Given the description of an element on the screen output the (x, y) to click on. 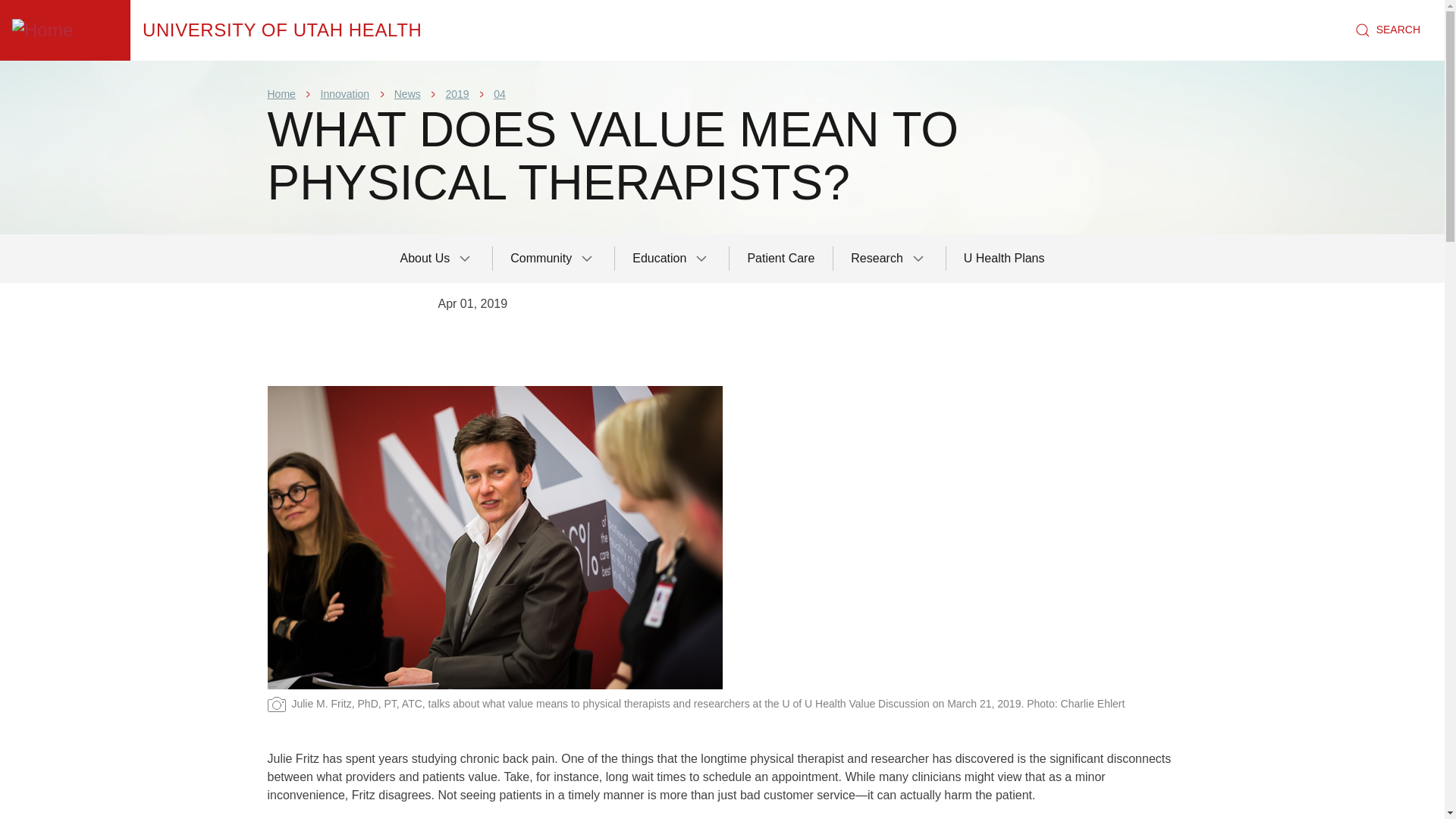
UNIVERSITY OF UTAH HEALTH (282, 30)
Home (65, 30)
Research (888, 258)
About Us (436, 258)
News (407, 93)
04 (499, 93)
SEARCH (1387, 30)
Education (671, 258)
Home (282, 30)
Home (280, 93)
U Health Plans (1003, 258)
2019 (456, 93)
Innovation (344, 93)
Patient Care (780, 258)
Community (553, 258)
